Given the description of an element on the screen output the (x, y) to click on. 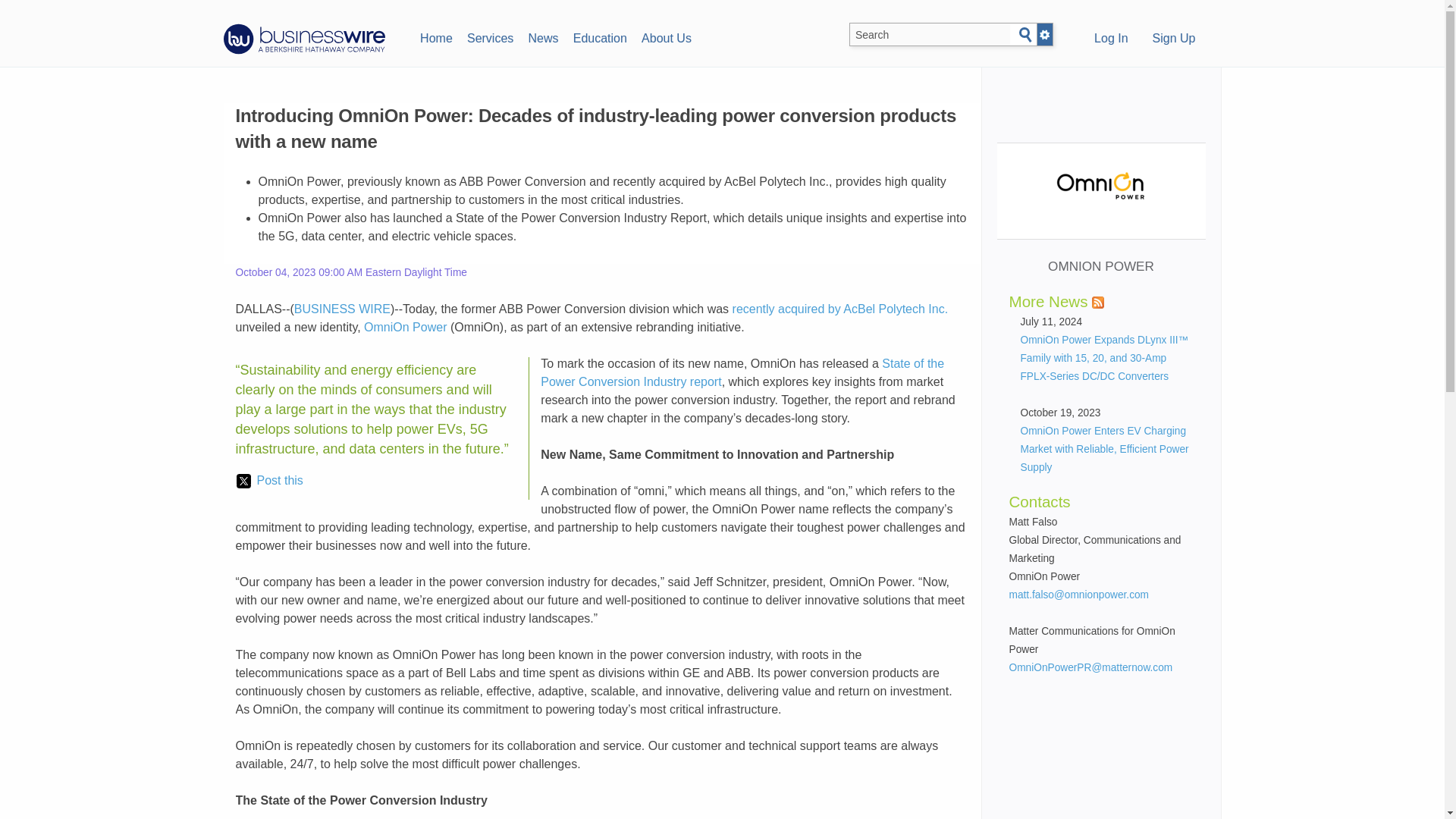
Search BusinessWire.com (930, 34)
recently acquired by AcBel Polytech Inc. (840, 308)
State of the Power Conversion Industry report (741, 372)
OmniOn Power (405, 327)
Services (490, 36)
Post this (269, 480)
RSS feed for OmniOn Power (1097, 302)
BUSINESS WIRE (342, 308)
News (543, 36)
